Given the description of an element on the screen output the (x, y) to click on. 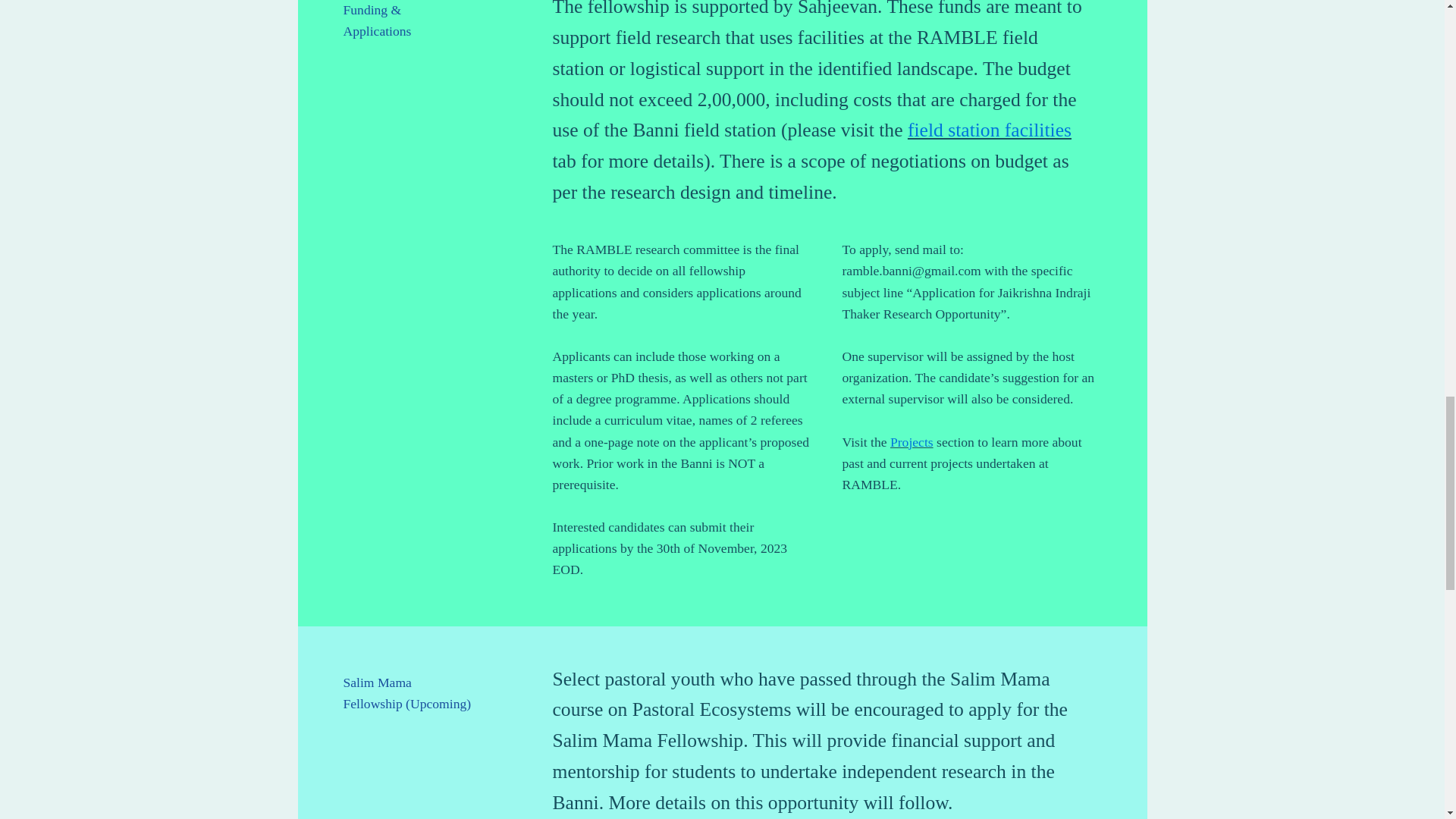
field station facilities (989, 129)
Projects (911, 441)
